Given the description of an element on the screen output the (x, y) to click on. 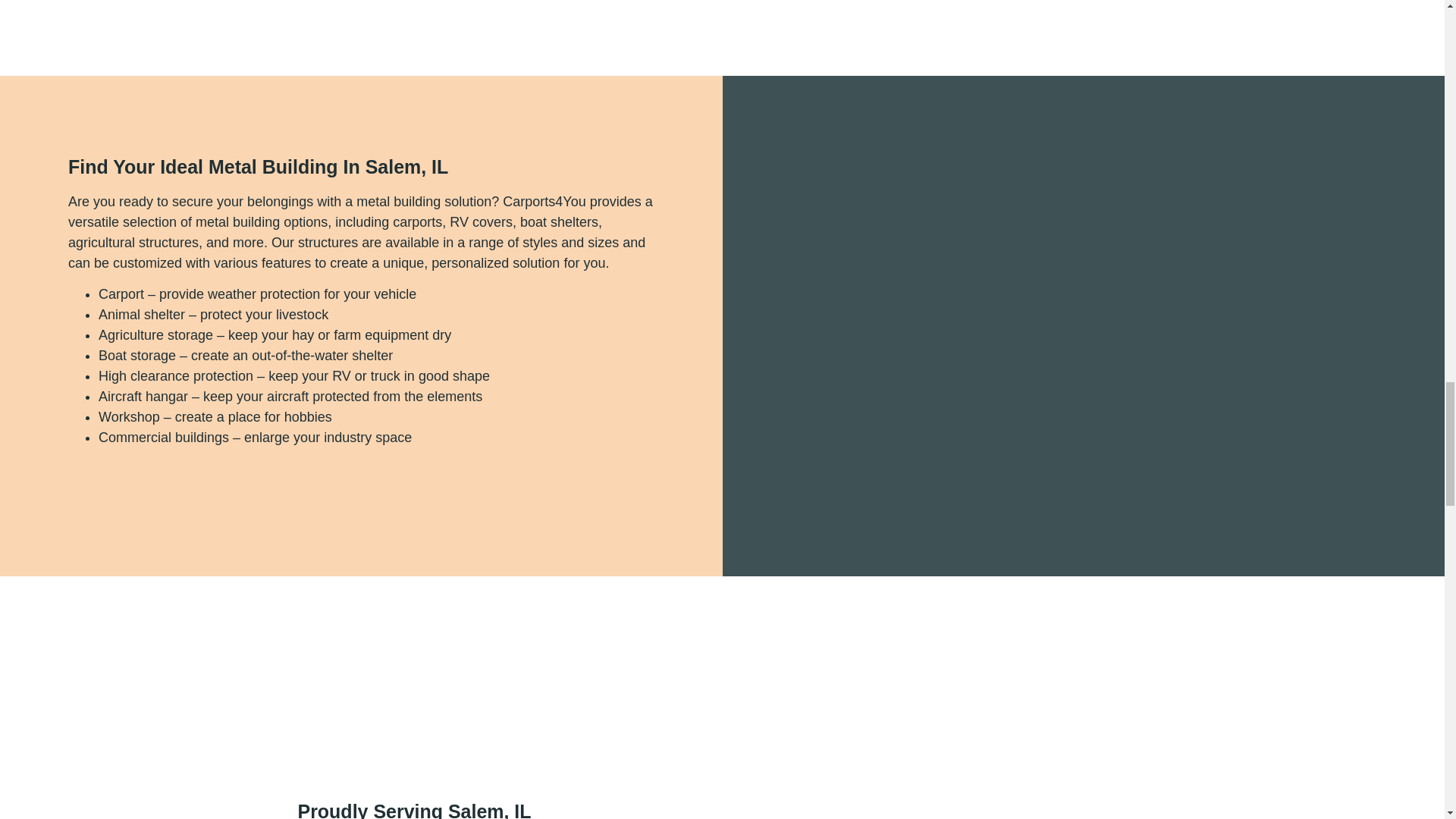
Design And Price Online (161, 478)
